Given the description of an element on the screen output the (x, y) to click on. 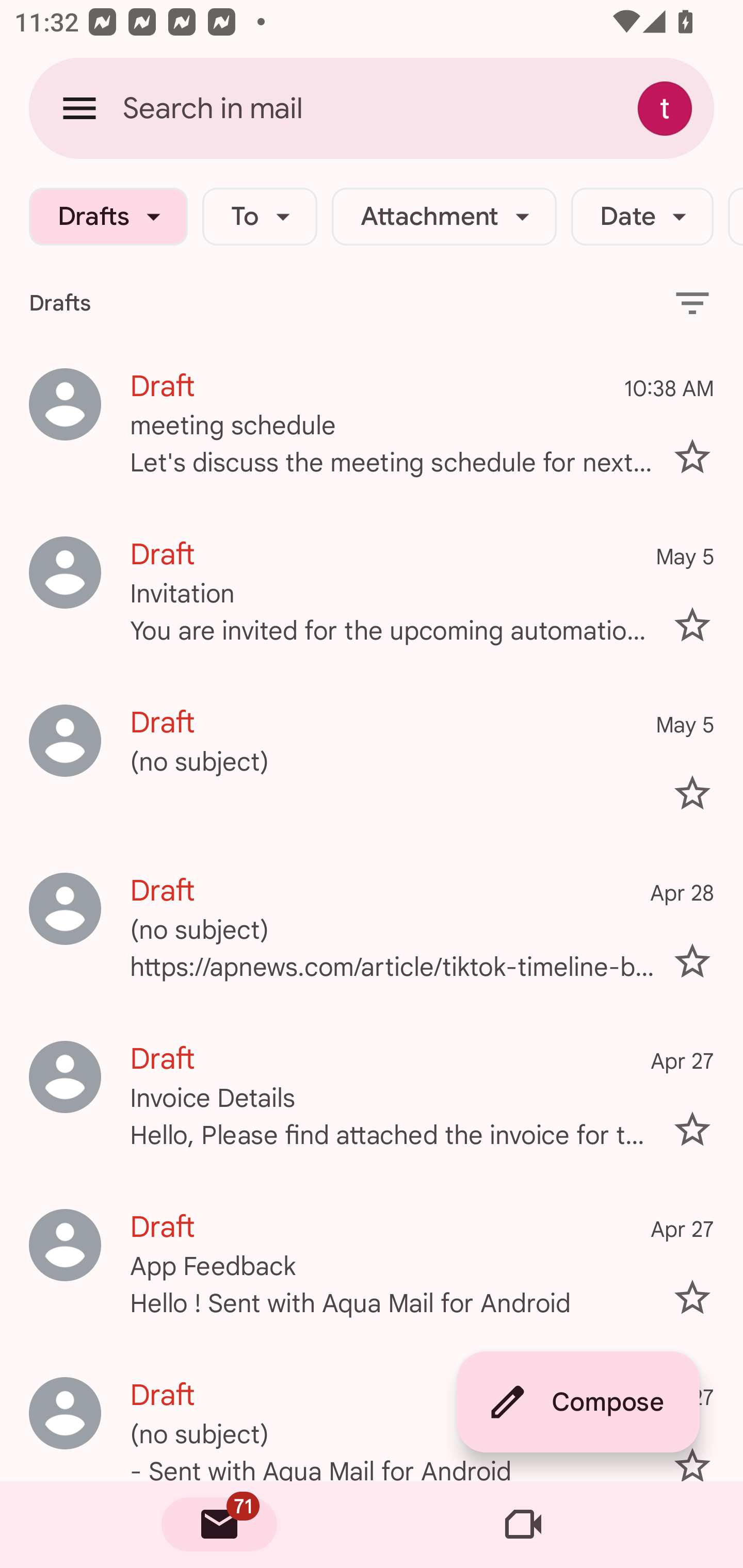
Open navigation drawer (79, 108)
Drafts (107, 217)
To (259, 217)
Attachment (444, 217)
Date (642, 217)
Filter icon (692, 302)
Compose (577, 1401)
Meet (523, 1524)
